Given the description of an element on the screen output the (x, y) to click on. 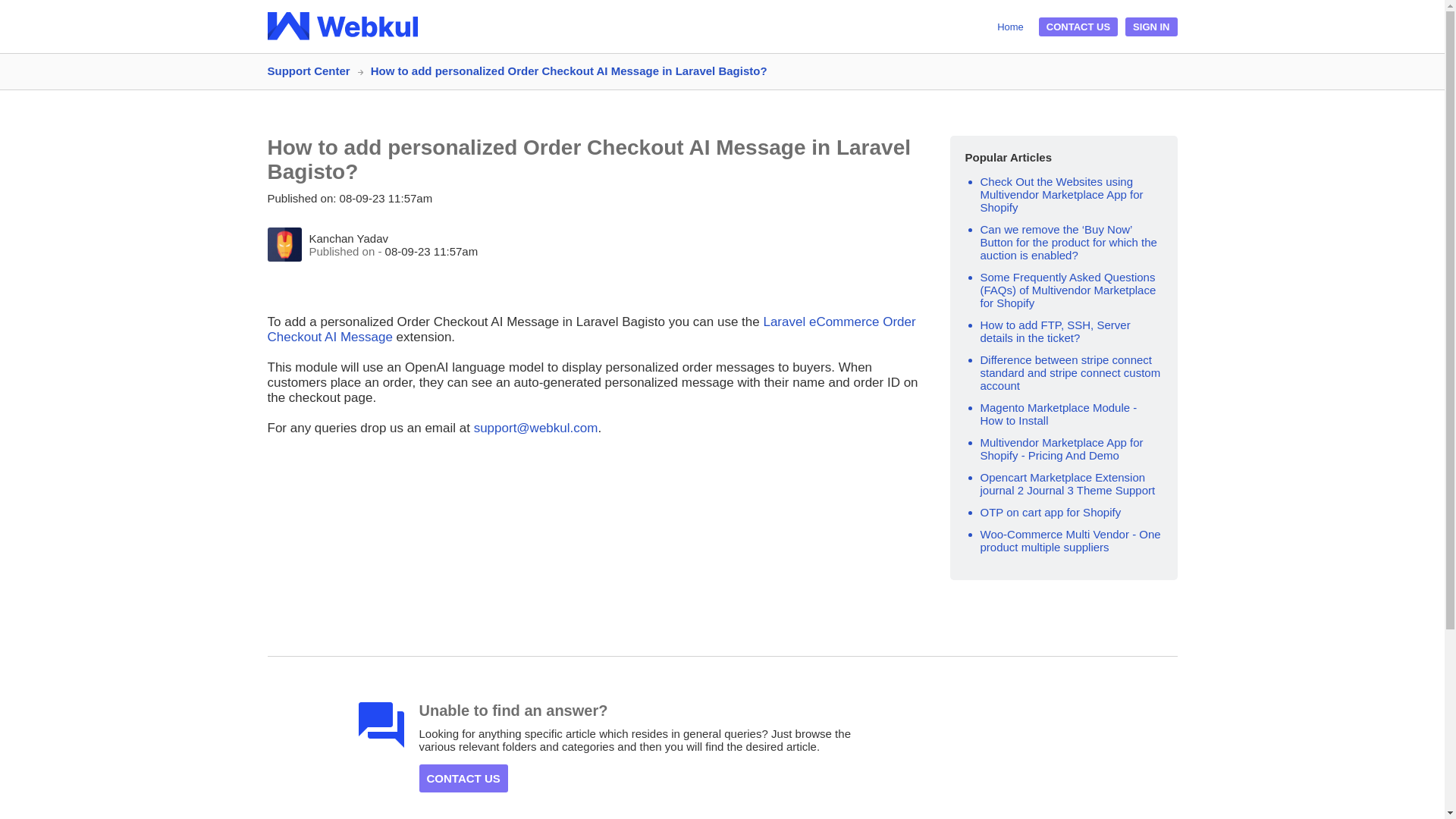
CONTACT US (462, 778)
Home (1010, 26)
How to add FTP, SSH, Server details in the ticket? (1054, 330)
Support Center (314, 70)
OTP on cart app for Shopify (1050, 512)
CONTACT US (1078, 26)
Multivendor Marketplace App for Shopify - Pricing And Demo (1060, 448)
Magento Marketplace Module - How to Install (1058, 413)
